Given the description of an element on the screen output the (x, y) to click on. 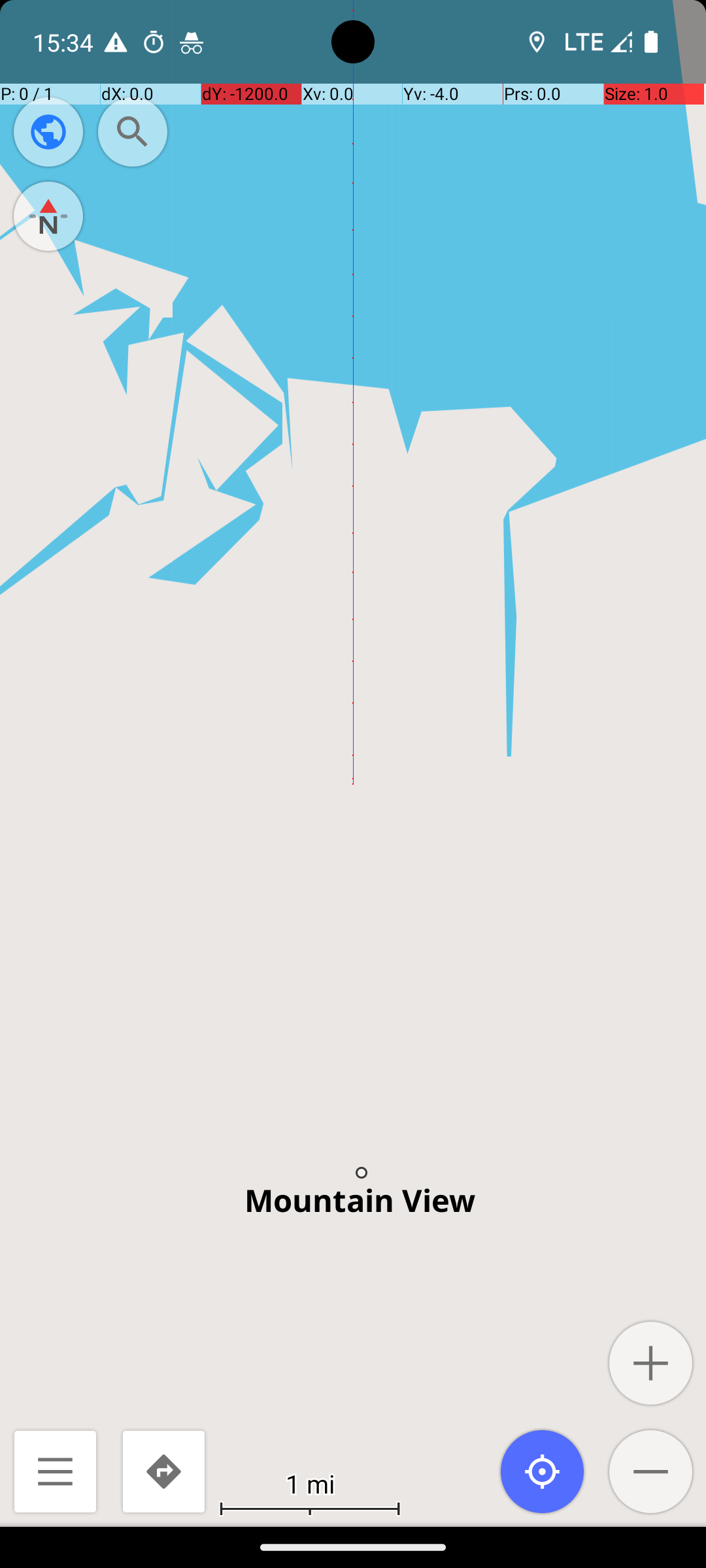
North is up Element type: android.widget.ImageButton (48, 216)
1 mi Element type: android.widget.TextView (309, 1483)
Where am I Element type: android.widget.ImageButton (542, 1471)
